Given the description of an element on the screen output the (x, y) to click on. 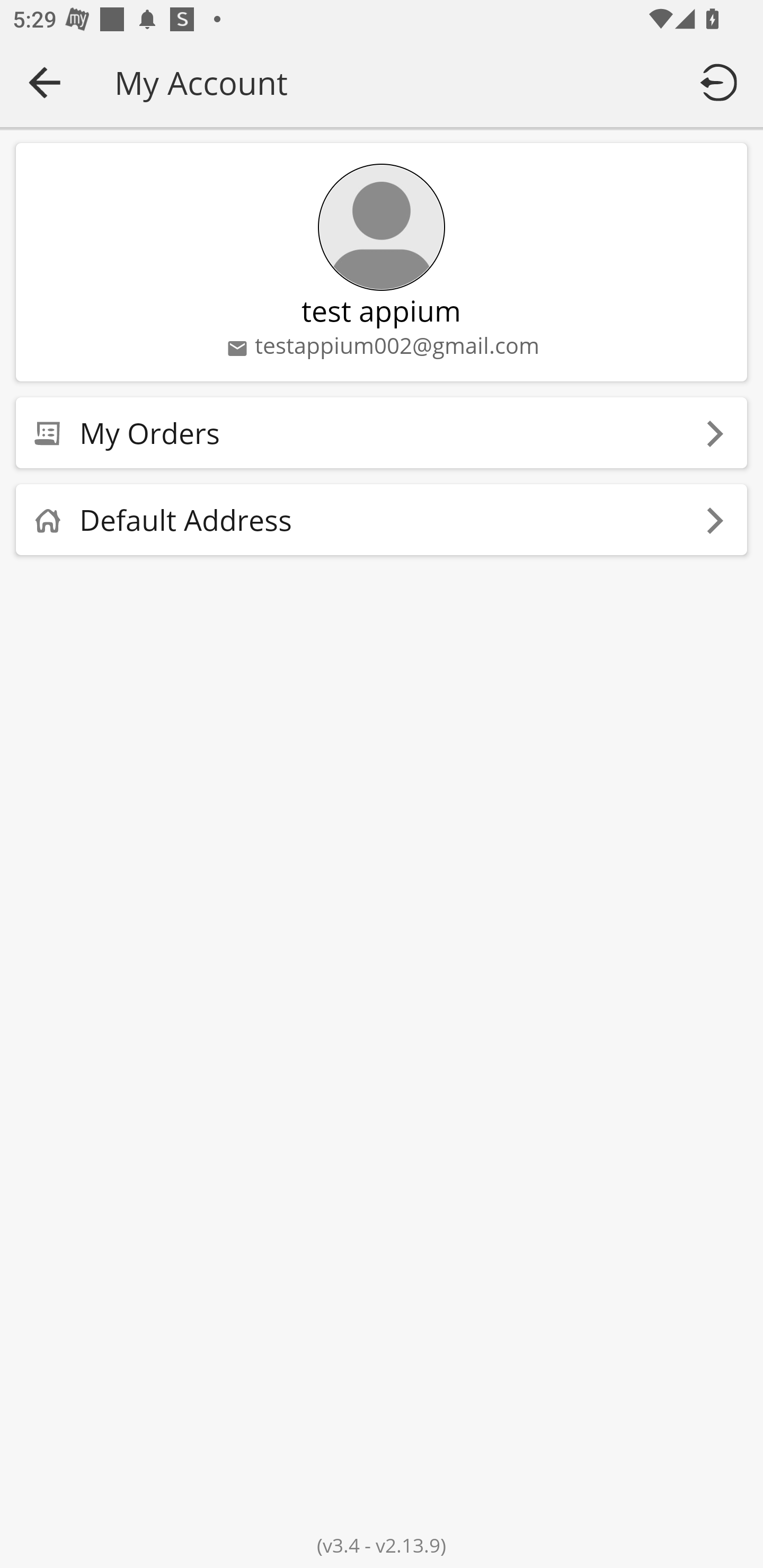
Navigate up (44, 82)
LOGOUT (721, 81)
